Given the description of an element on the screen output the (x, y) to click on. 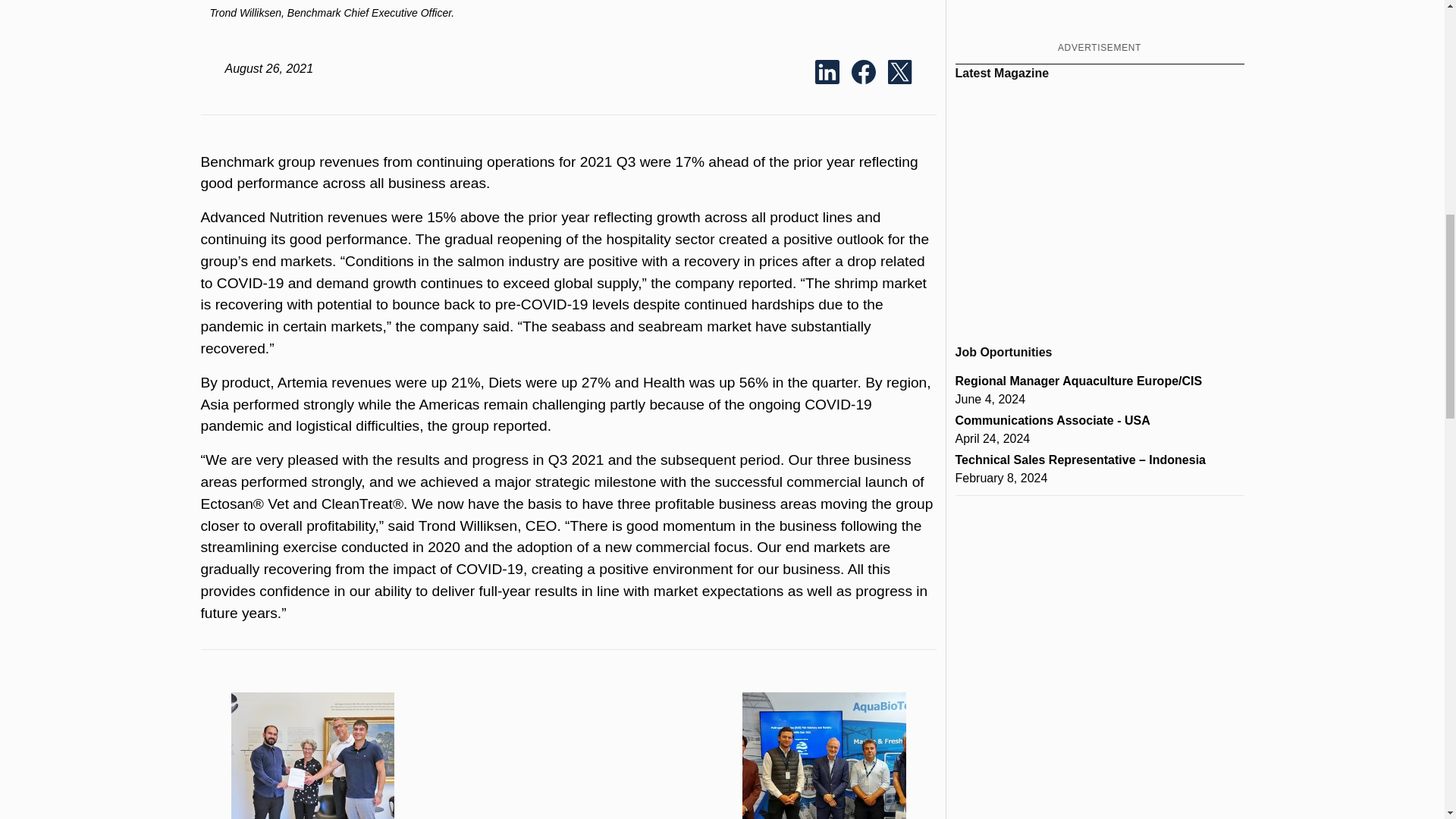
Magazine viewer (1099, 206)
3rd party ad content (1098, 18)
